Given the description of an element on the screen output the (x, y) to click on. 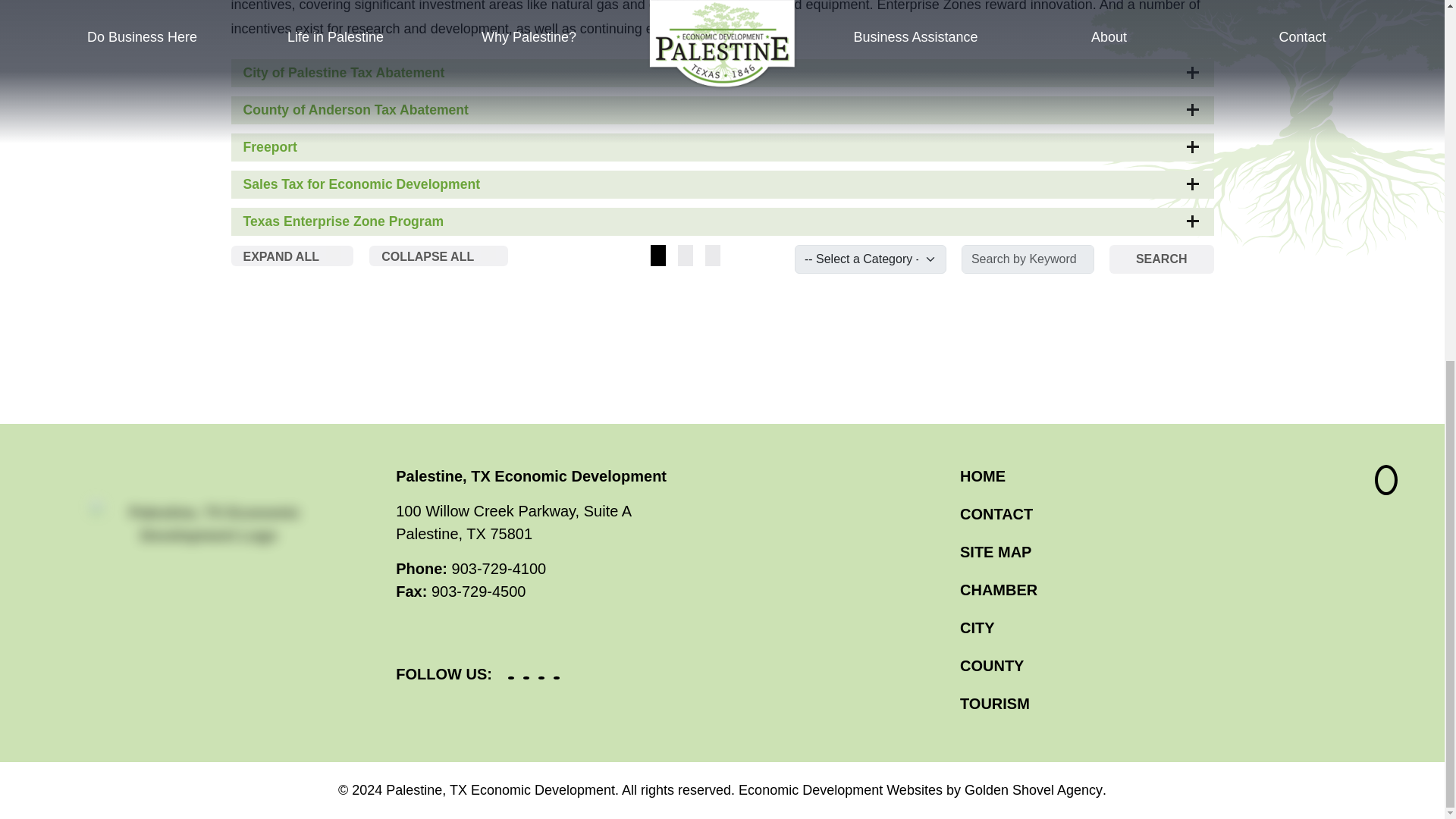
Search by Keyword (1027, 258)
